Given the description of an element on the screen output the (x, y) to click on. 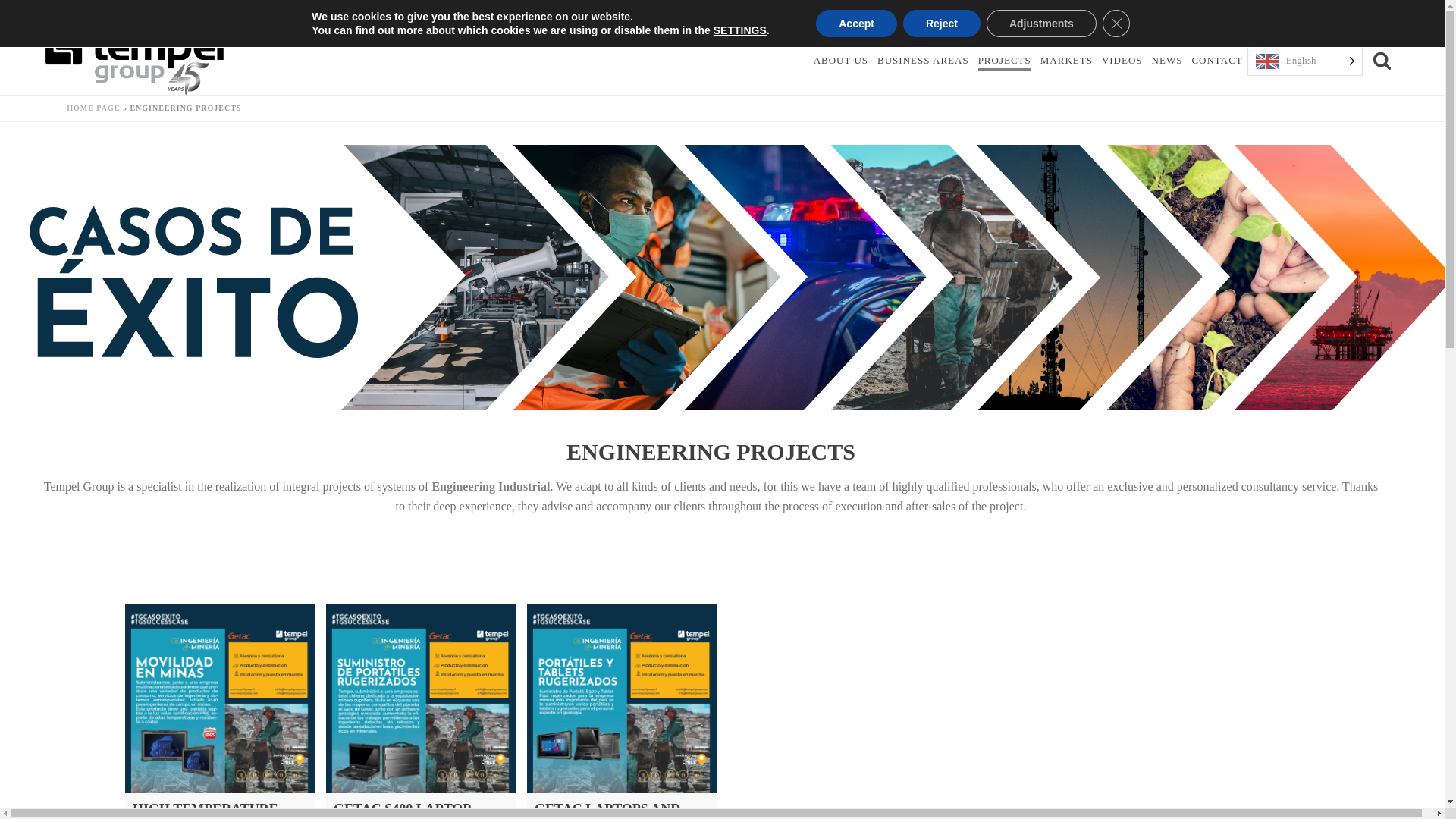
NEWS (1167, 61)
BUSINESS AREAS (923, 61)
VIDEOS (1122, 61)
PROJECTS (1004, 61)
MARKETS (1066, 61)
PROJECTS (1004, 61)
Getac laptops and tablets - Mining Company (621, 698)
ABOUT US (840, 61)
ABOUT US (840, 61)
CONTACT (1216, 61)
VIDEOS (1122, 61)
CONTACT (1216, 61)
MARKETS (1066, 61)
High Temperature System - Getac (219, 698)
NEWS (1167, 61)
